Given the description of an element on the screen output the (x, y) to click on. 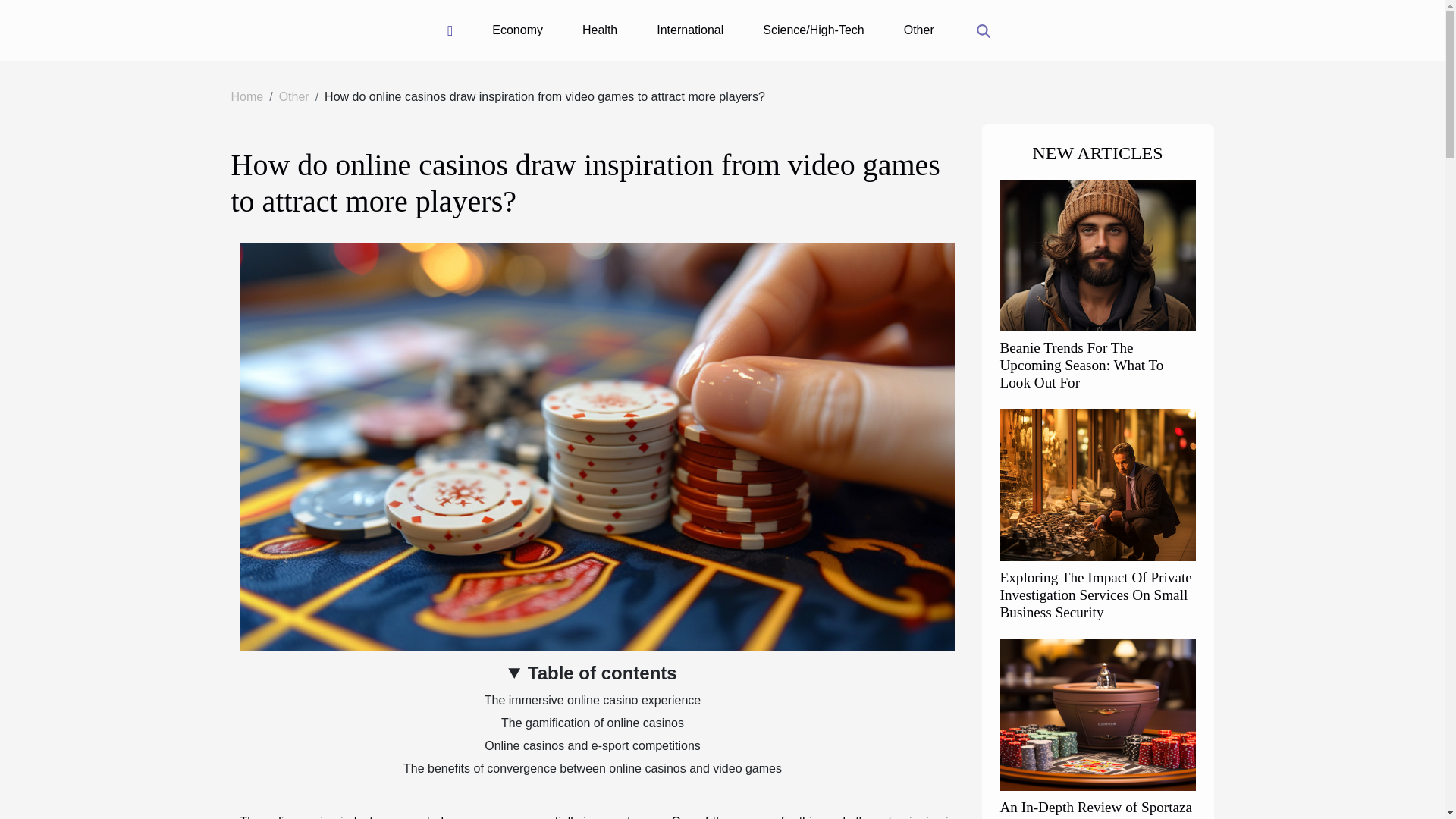
The immersive online casino experience (592, 699)
Health (599, 30)
Other (293, 96)
Beanie Trends For The Upcoming Season: What To Look Out For (1080, 364)
Online casinos and e-sport competitions (592, 745)
International (689, 30)
Economy (517, 30)
Beanie Trends For The Upcoming Season: What To Look Out For (1096, 254)
The gamification of online casinos (592, 722)
